Given the description of an element on the screen output the (x, y) to click on. 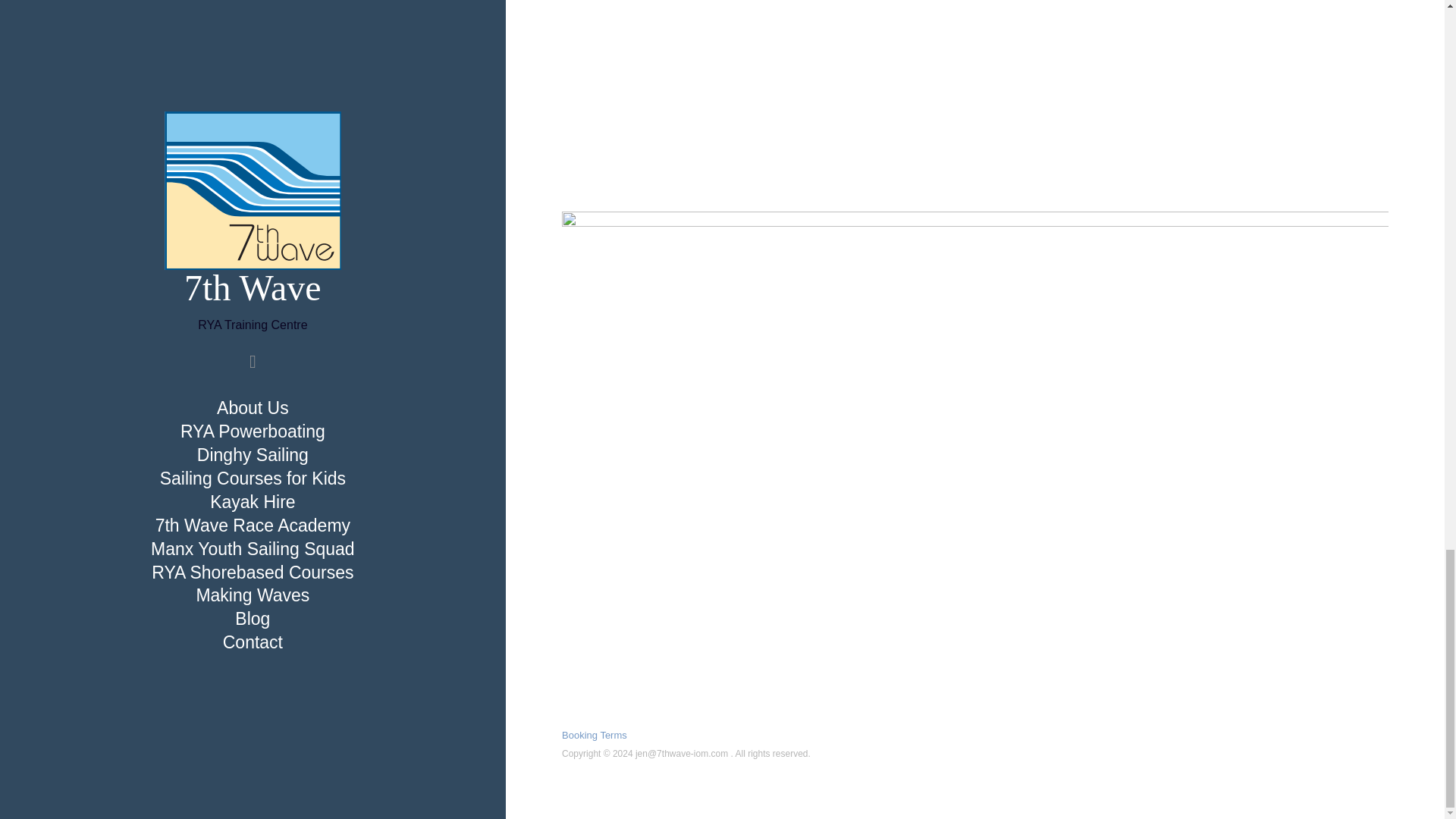
Booking Terms (594, 735)
